Given the description of an element on the screen output the (x, y) to click on. 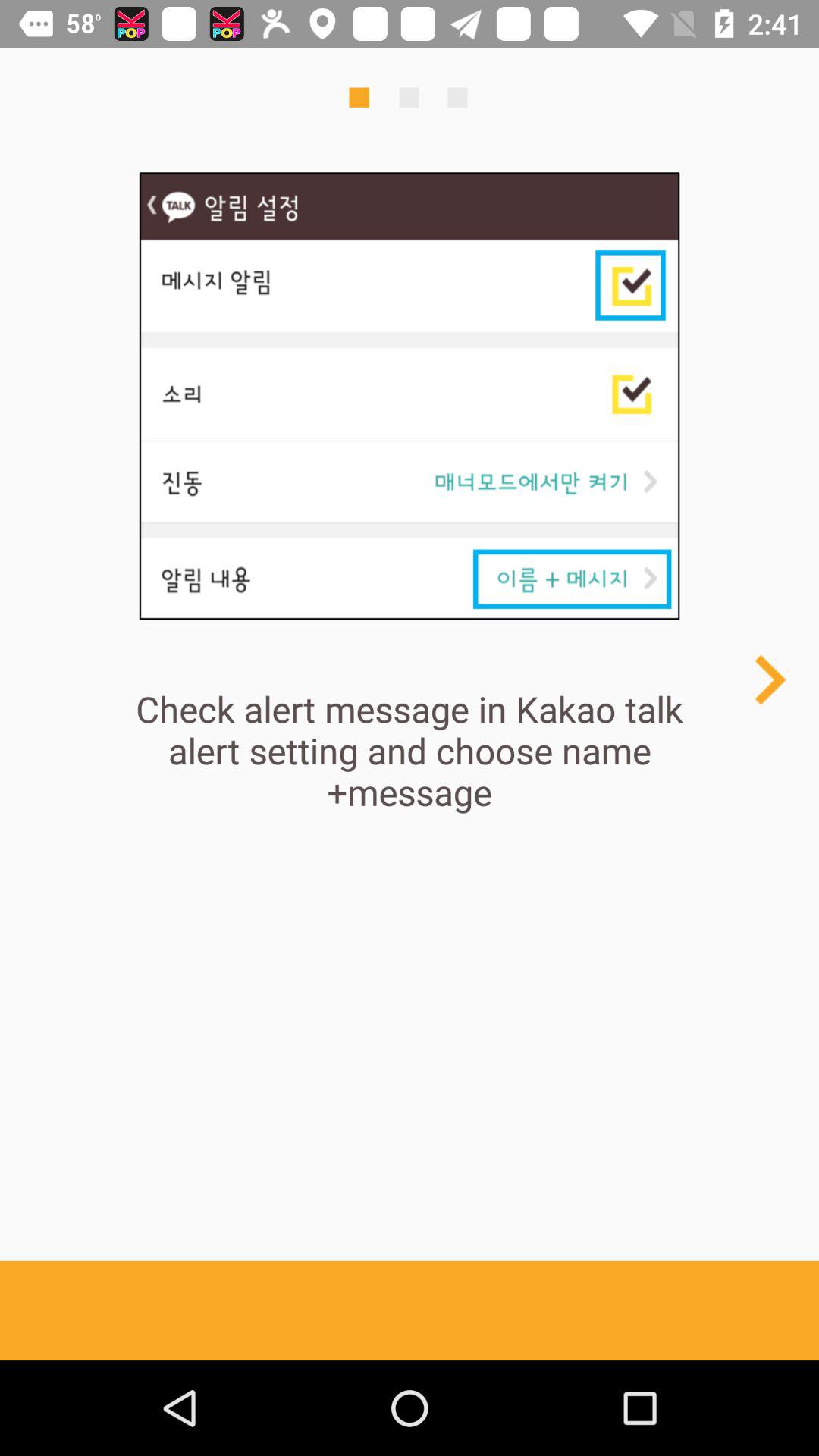
forward (769, 679)
